Given the description of an element on the screen output the (x, y) to click on. 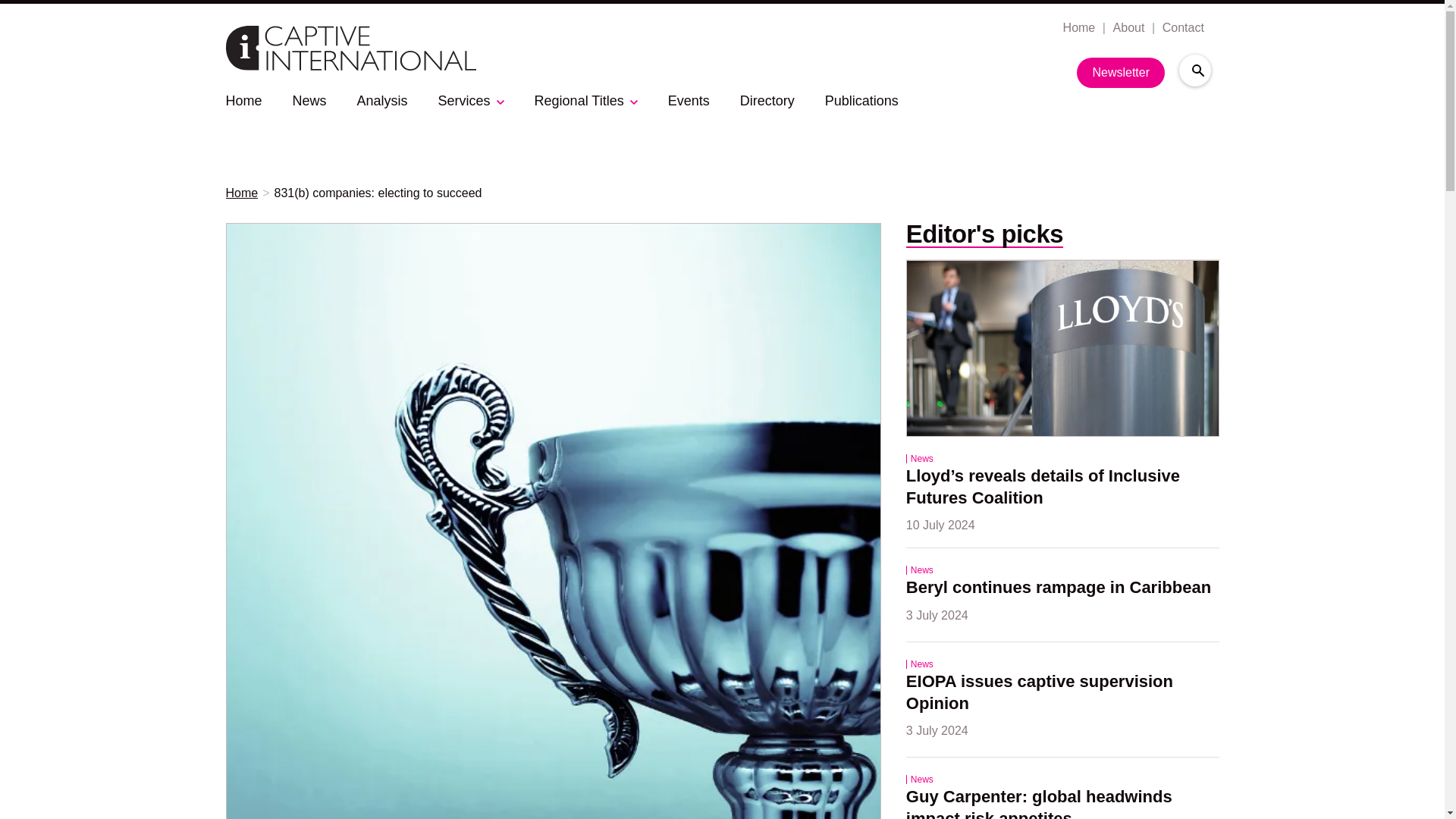
Analysis (381, 100)
About (1126, 28)
Directory (766, 100)
Contact (1181, 28)
Newsletter (1120, 72)
Home (242, 193)
Events (689, 100)
Services (464, 100)
Guy Carpenter: global headwinds impact risk appetites (1040, 803)
Home (243, 100)
Home (1078, 28)
Publications (861, 100)
Regional Titles (579, 100)
EIOPA issues captive supervision Opinion (1041, 692)
News (309, 100)
